Given the description of an element on the screen output the (x, y) to click on. 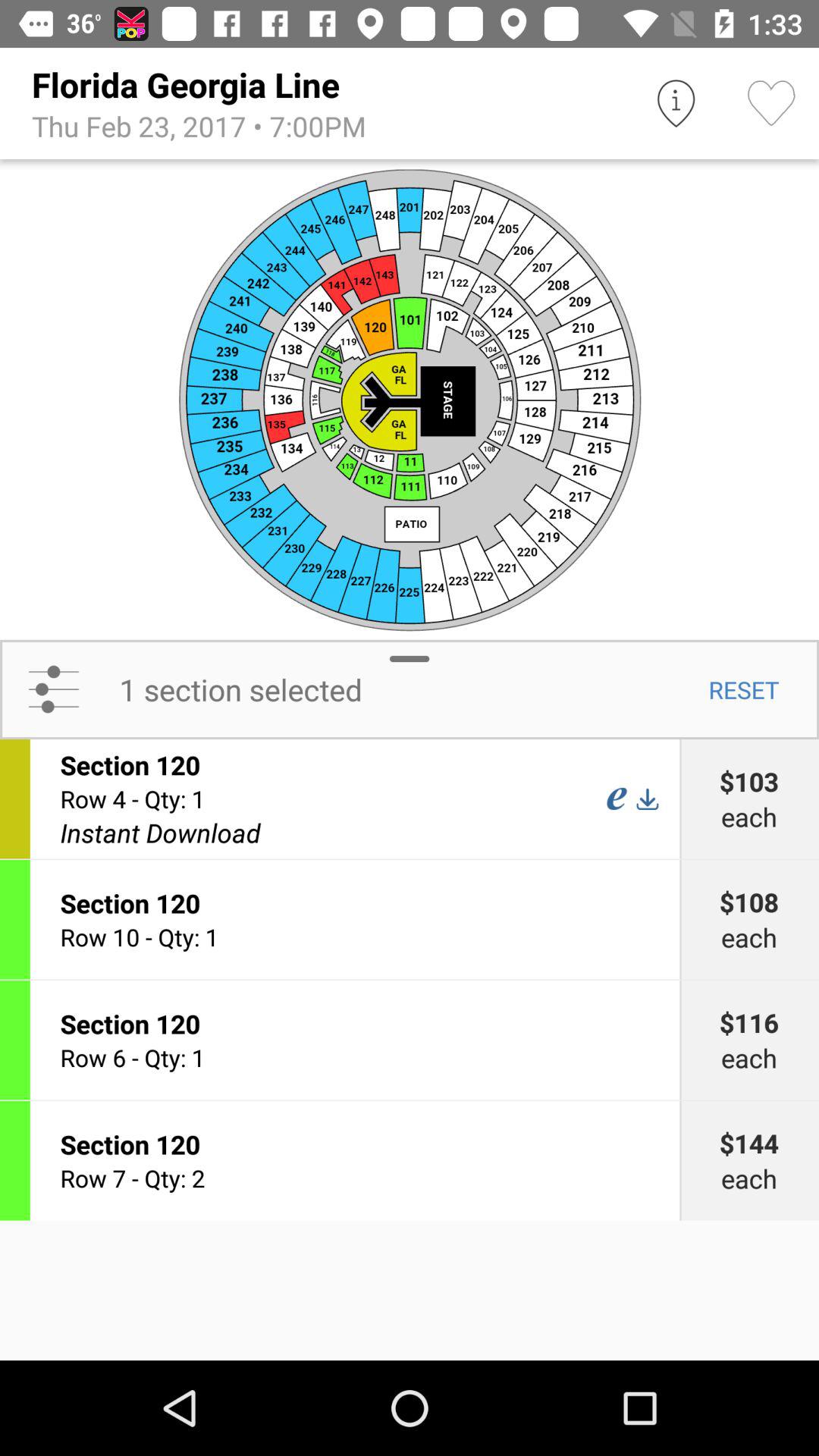
choose the icon to the left of the 1 section selected icon (53, 689)
